Given the description of an element on the screen output the (x, y) to click on. 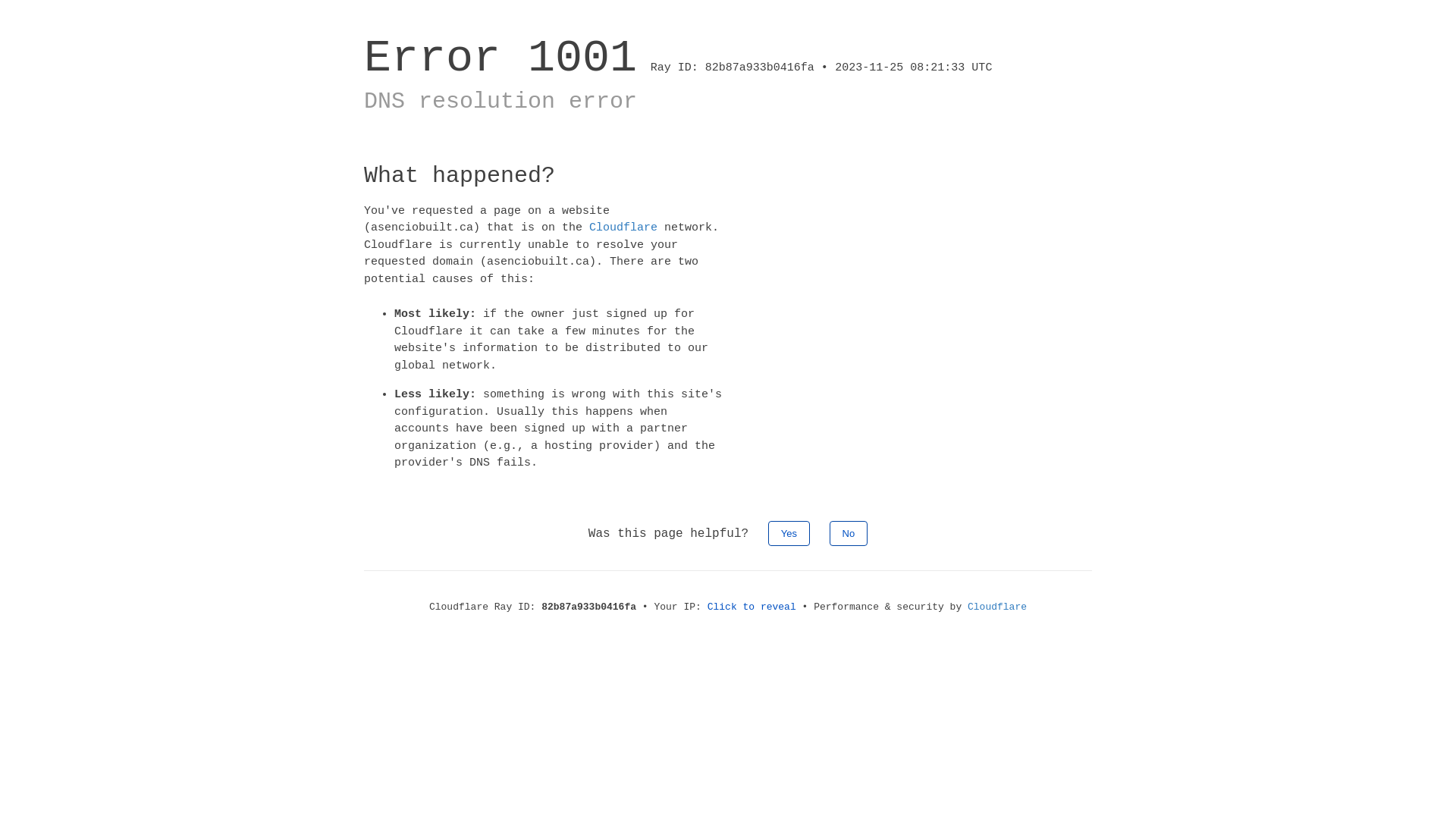
Cloudflare Element type: text (623, 227)
No Element type: text (848, 532)
Click to reveal Element type: text (751, 605)
Yes Element type: text (788, 532)
Cloudflare Element type: text (996, 605)
